Given the description of an element on the screen output the (x, y) to click on. 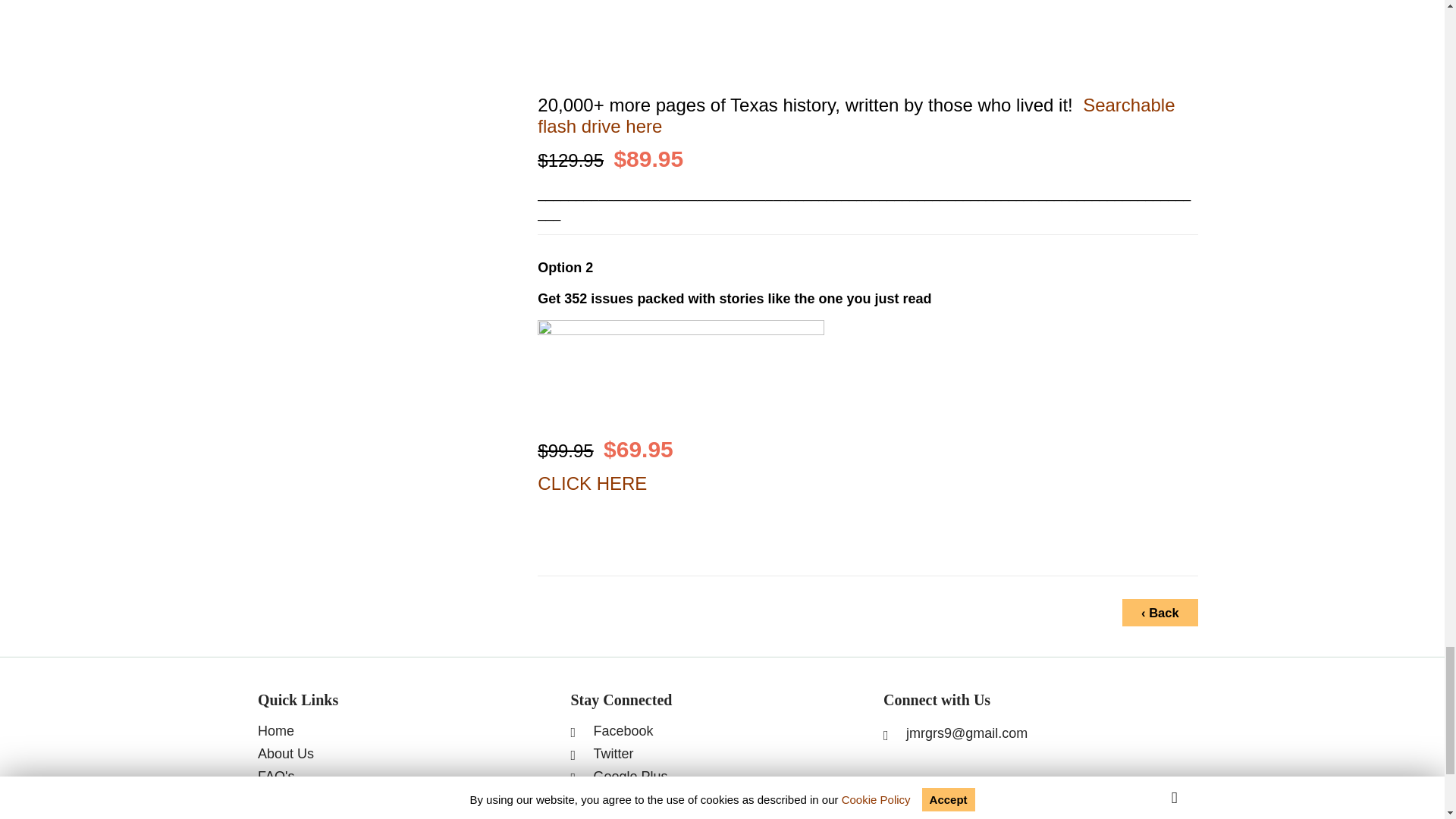
Searchable flash drive here (855, 115)
CLICK HERE (591, 483)
